Given the description of an element on the screen output the (x, y) to click on. 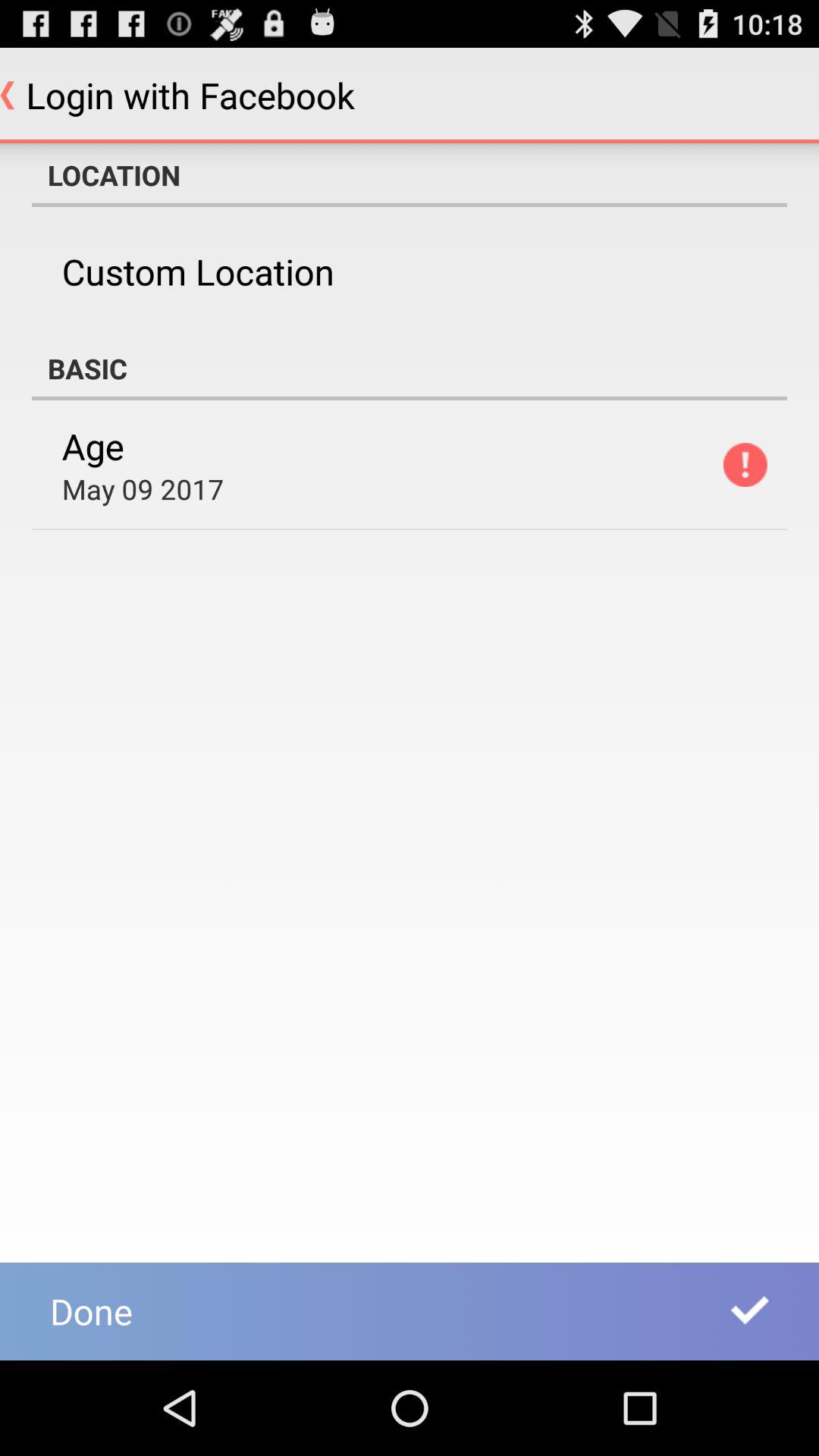
turn off the app above may 09 2017 item (92, 446)
